Given the description of an element on the screen output the (x, y) to click on. 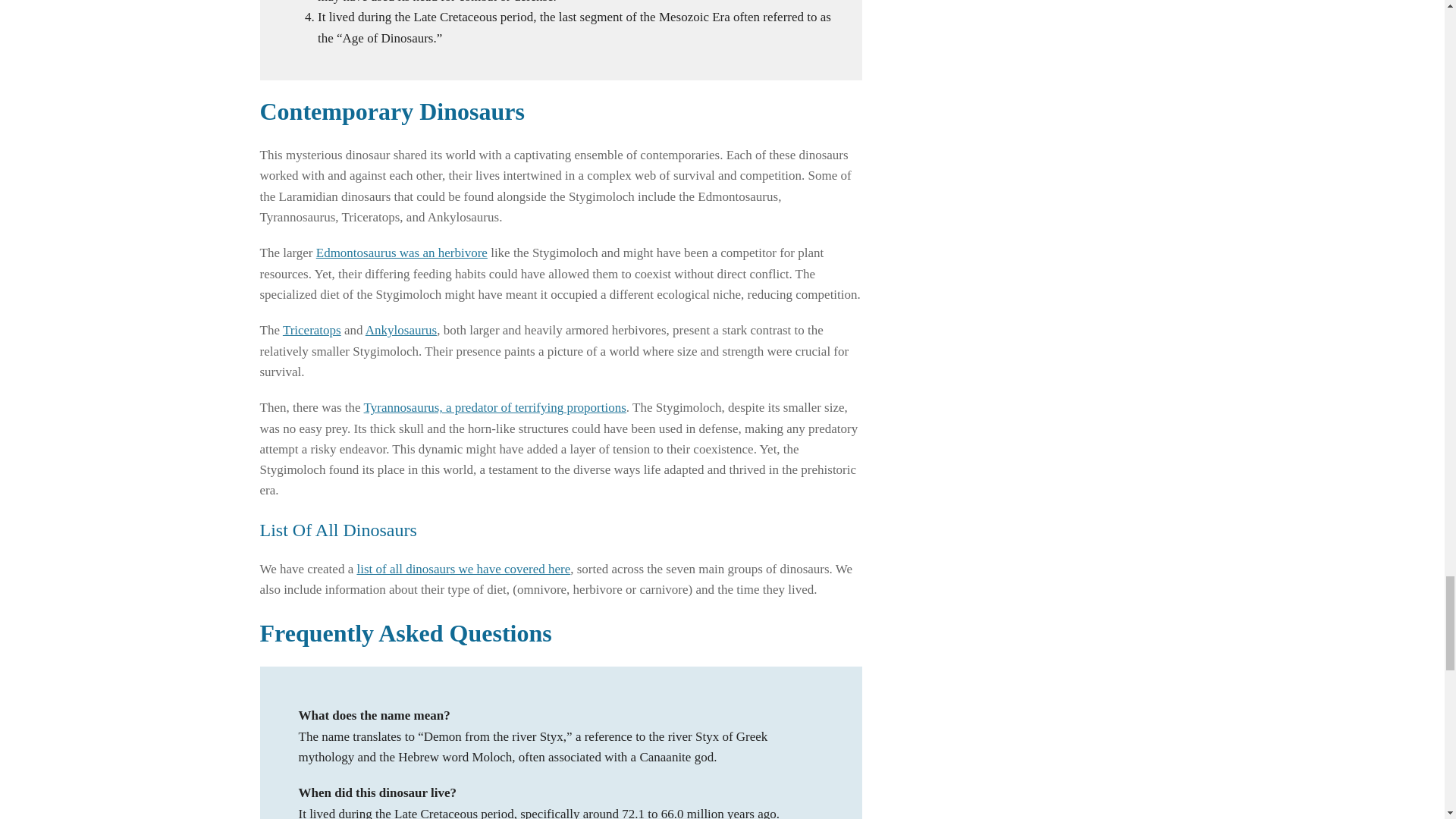
Tyrannosaurus, a predator of terrifying proportions (495, 407)
Ankylosaurus (400, 329)
Edmontosaurus was an herbivore (401, 252)
Triceratops (311, 329)
